Given the description of an element on the screen output the (x, y) to click on. 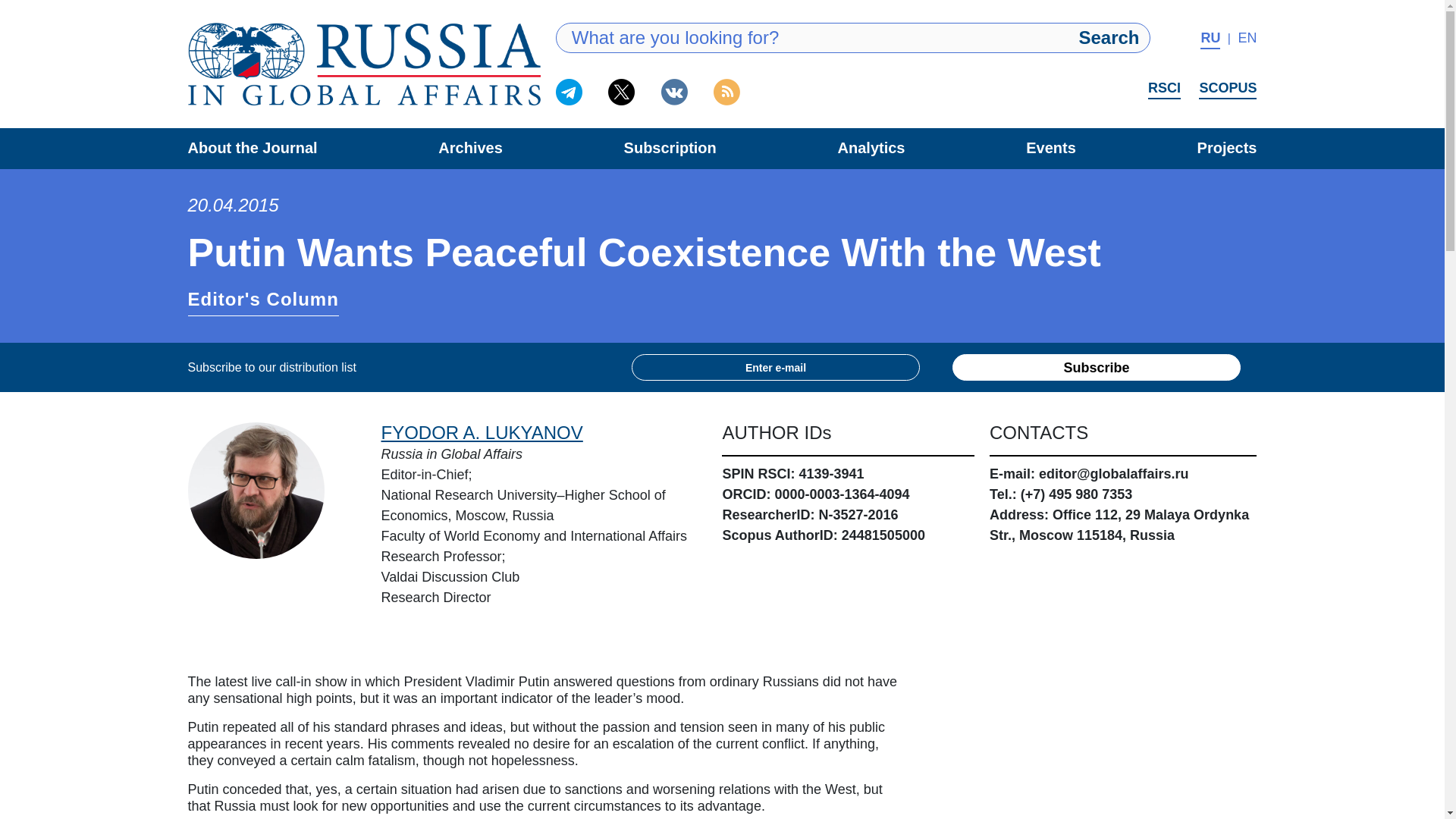
Subscription (670, 147)
SCOPUS (1227, 89)
Archives (470, 147)
Telegram (569, 91)
Vkontakte (674, 91)
About the Journal (252, 147)
RSS (726, 91)
Search (1108, 37)
RSCI (1164, 89)
RU (1209, 39)
Analytics (871, 147)
Twitter (621, 91)
